Given the description of an element on the screen output the (x, y) to click on. 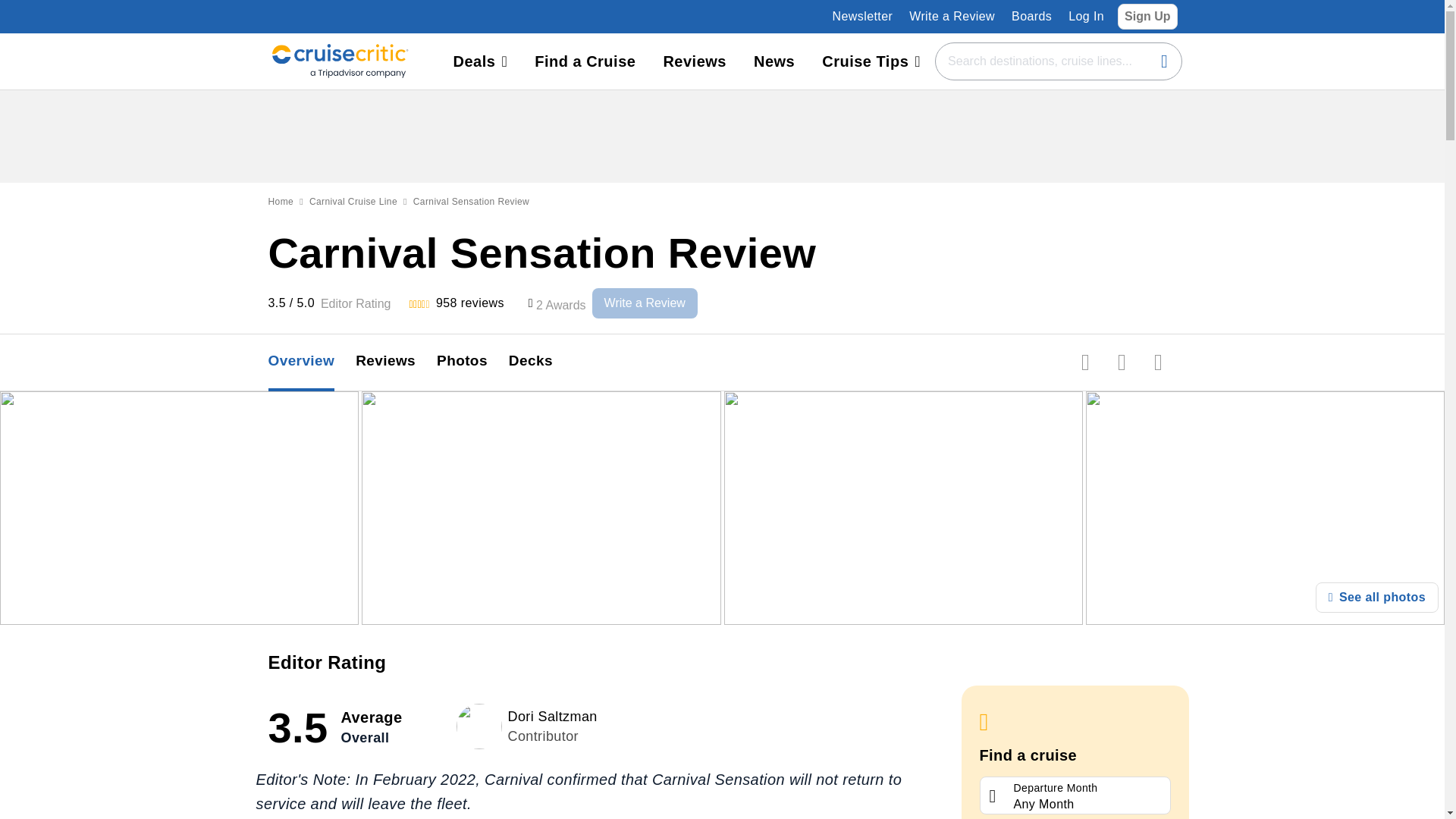
Find a Cruise (585, 61)
Sign Up (1147, 16)
Carnival Sensation Review (471, 201)
News (773, 61)
Cruise Tips (871, 61)
Home (280, 201)
Newsletter (862, 16)
Reviews (694, 61)
Write a Review (644, 302)
Carnival Cruise Line (352, 201)
